Given the description of an element on the screen output the (x, y) to click on. 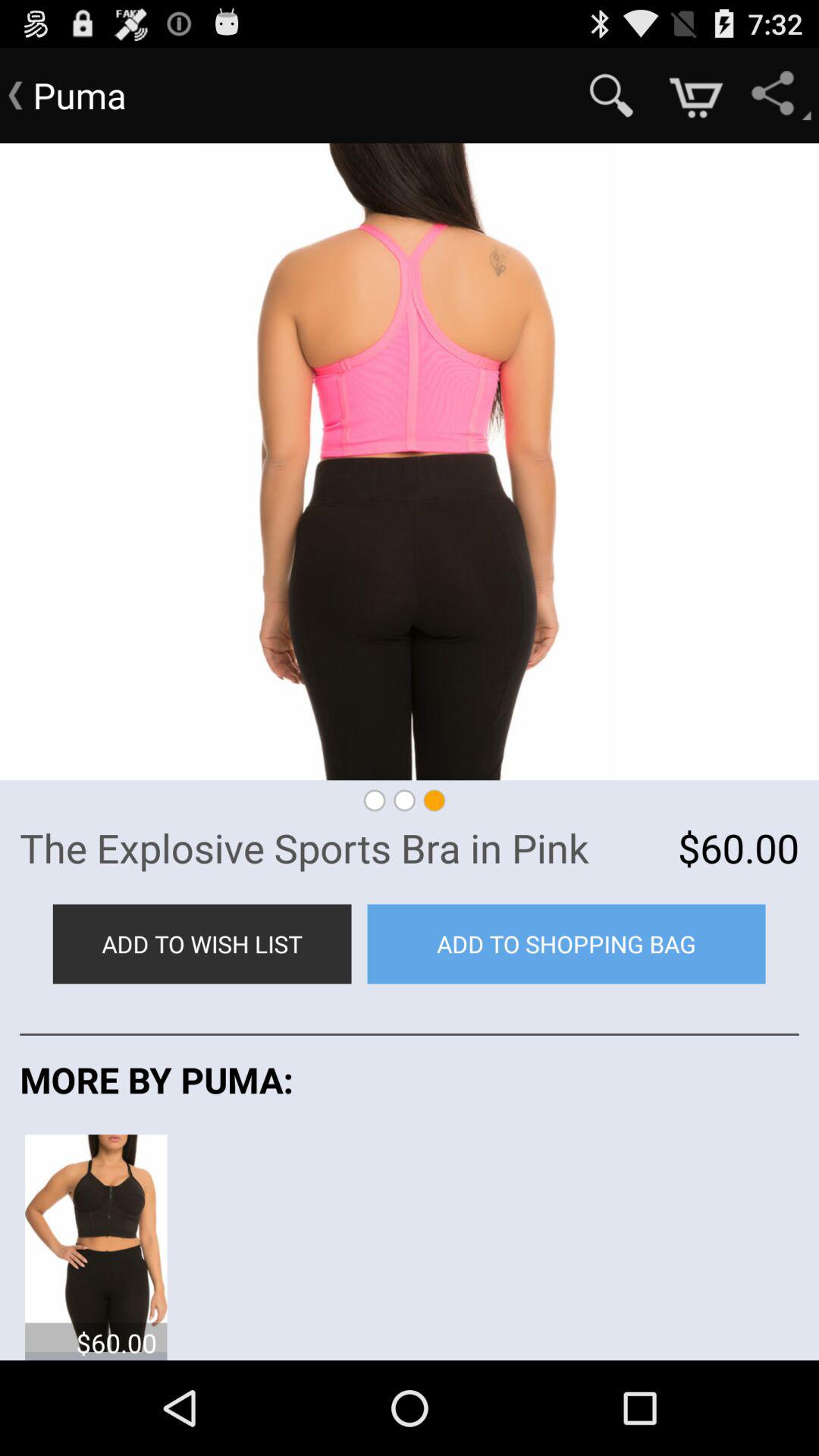
view other option (96, 1241)
